Given the description of an element on the screen output the (x, y) to click on. 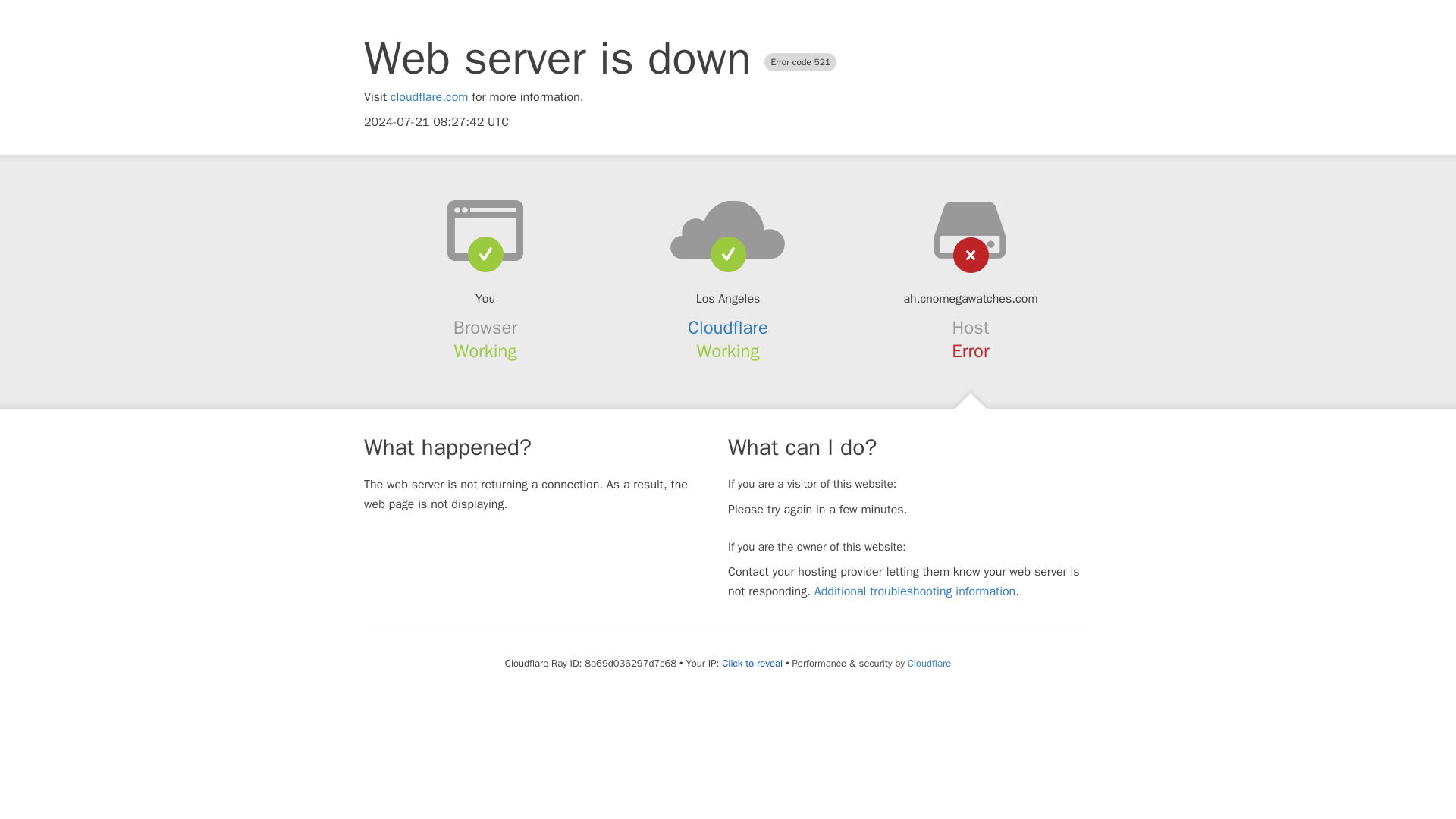
Additional troubleshooting information (913, 590)
cloudflare.com (429, 96)
Cloudflare (727, 327)
Click to reveal (752, 663)
Cloudflare (928, 662)
